Given the description of an element on the screen output the (x, y) to click on. 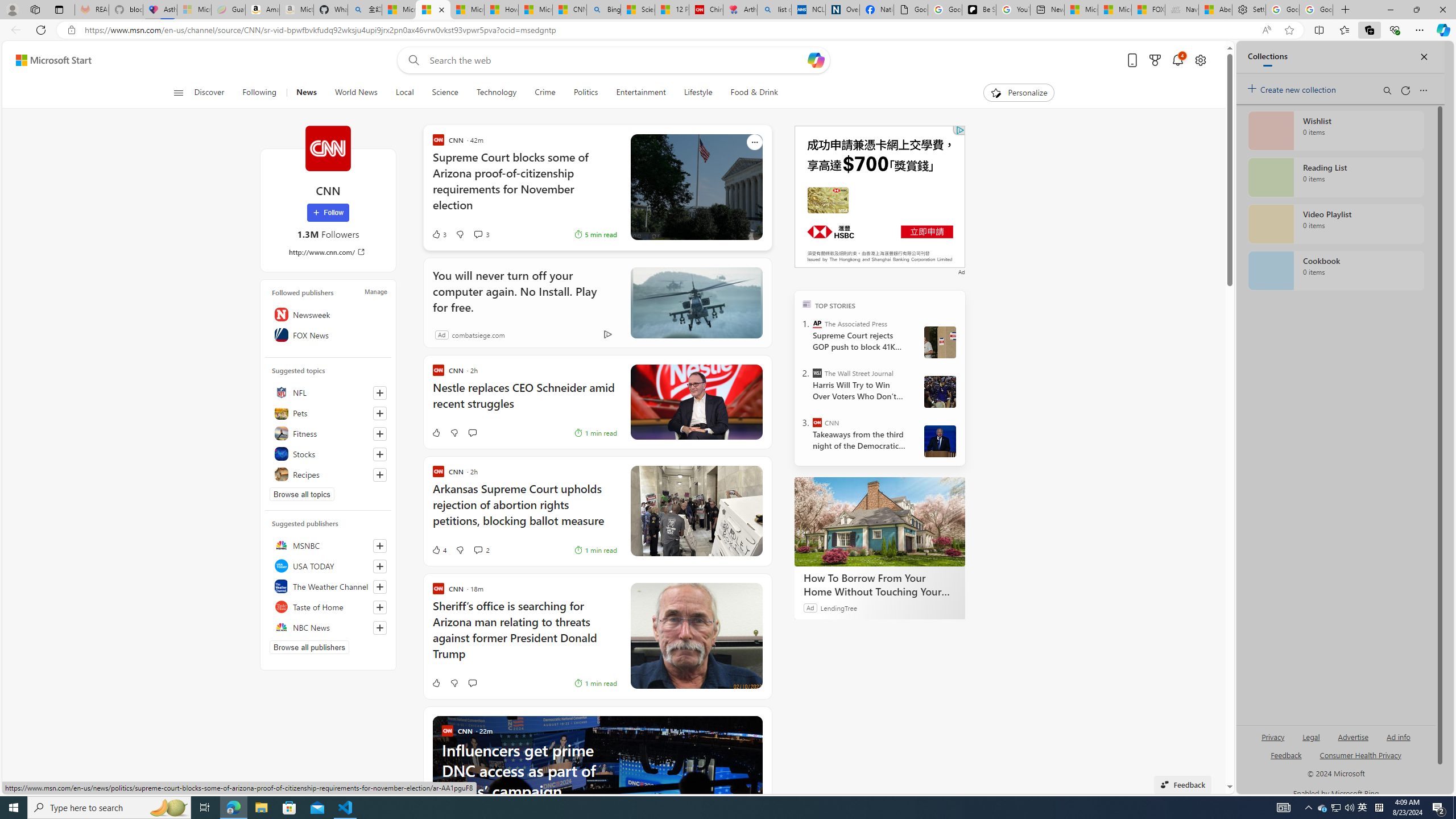
The Associated Press (816, 323)
Google Analytics Opt-out Browser Add-on Download Page (911, 9)
View comments 3 Comment (478, 234)
Local (403, 92)
Following (258, 92)
Ad Choice (606, 334)
Microsoft rewards (1154, 60)
Local (404, 92)
12 Popular Science Lies that Must be Corrected (671, 9)
Crime (545, 92)
